Given the description of an element on the screen output the (x, y) to click on. 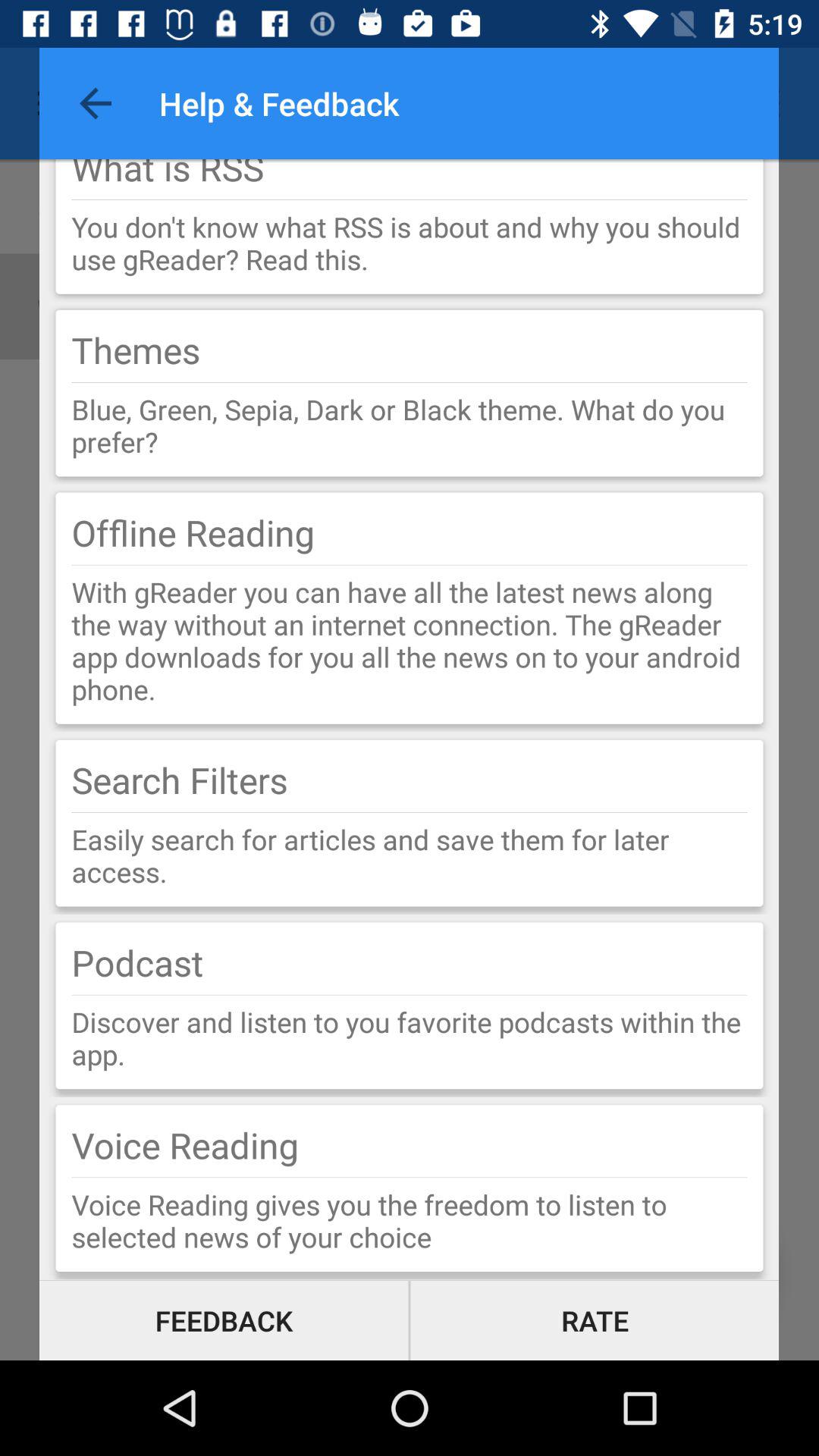
press the icon above the what is rss icon (95, 103)
